Given the description of an element on the screen output the (x, y) to click on. 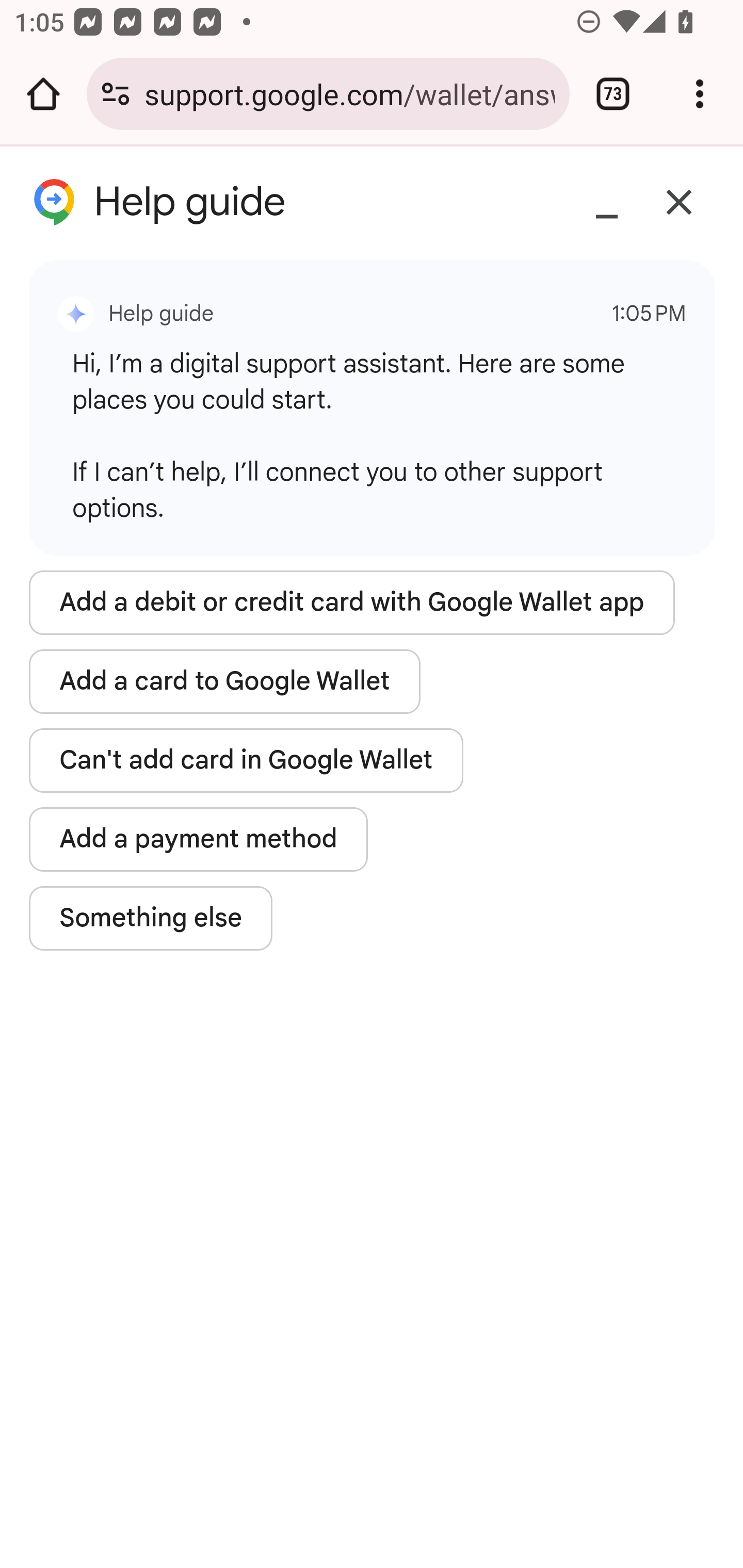
Open the home page (43, 93)
Connection is secure (115, 93)
Switch or close tabs (612, 93)
Customize and control Google Chrome (699, 93)
Minimize (607, 202)
Close (679, 202)
Add a debit or credit card with Google Wallet app (351, 602)
Add a card to Google Wallet (224, 681)
Can't add card in Google Wallet (245, 760)
Add a payment method (198, 838)
Something else (151, 917)
